Given the description of an element on the screen output the (x, y) to click on. 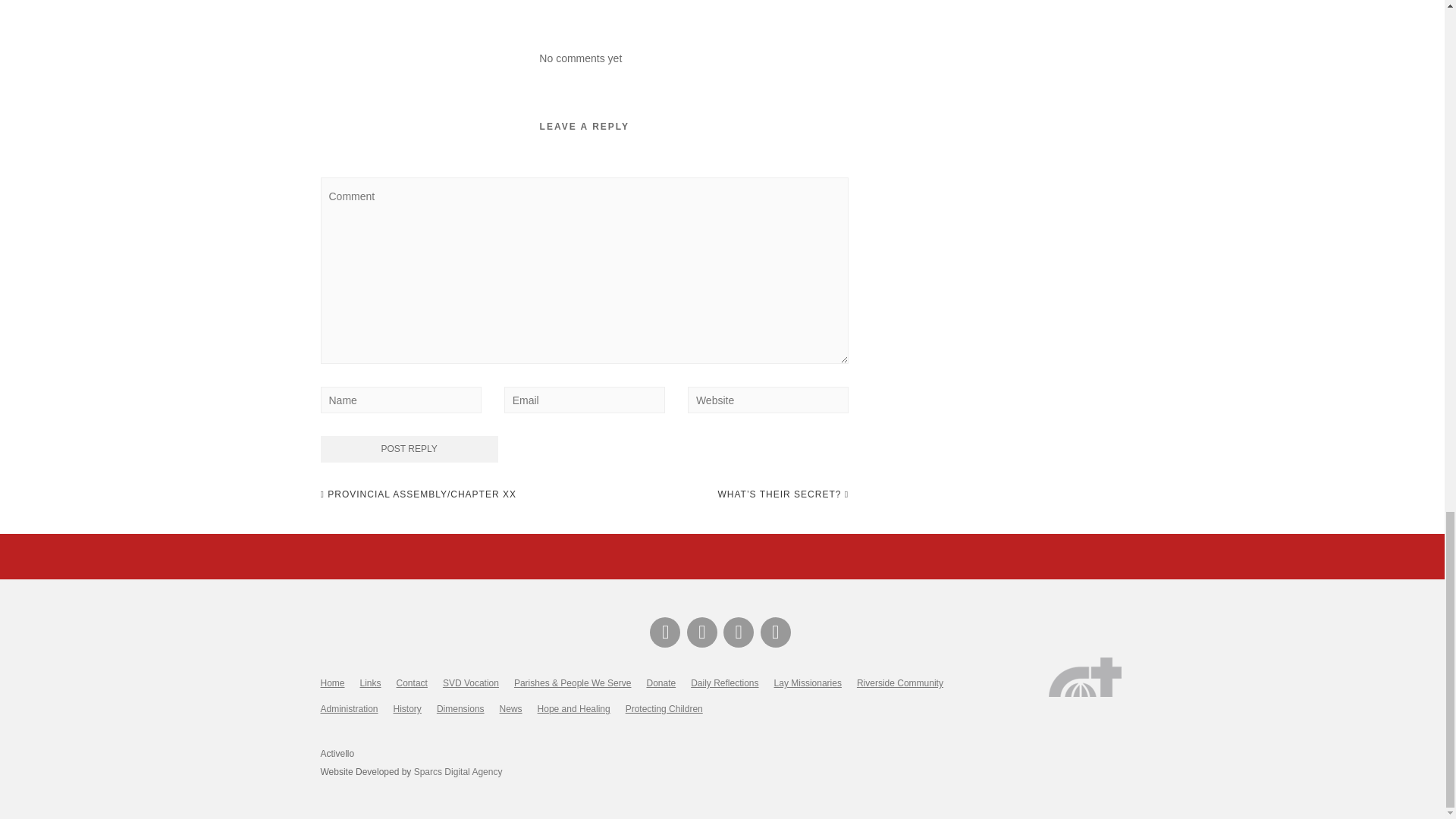
No comments yet (579, 58)
Post Reply (408, 448)
Post Reply (408, 448)
Website Developed by Sparcs Digital Agency,  (457, 771)
